Given the description of an element on the screen output the (x, y) to click on. 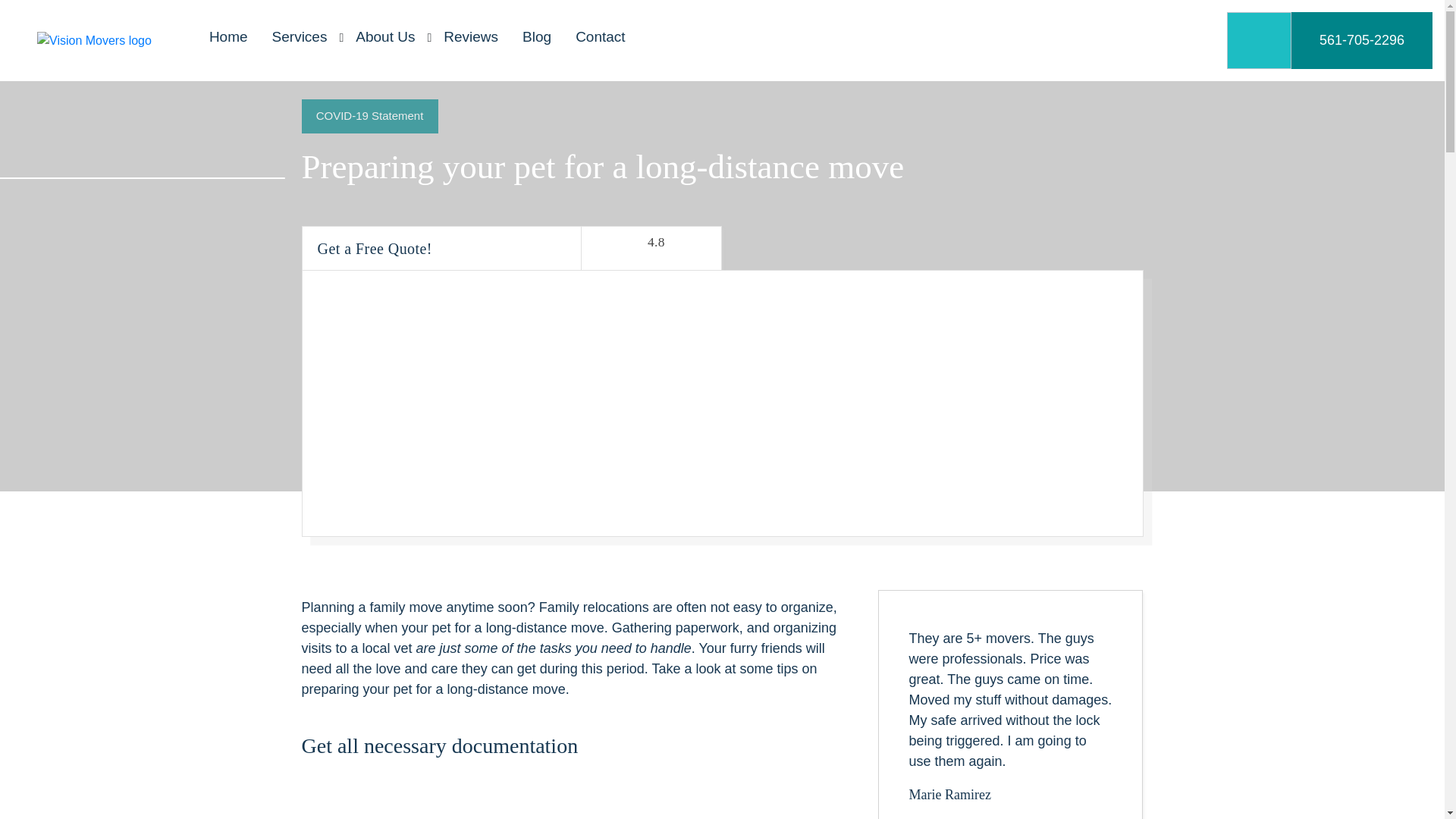
COVID-19 Statement (369, 116)
Reviews (470, 37)
561-705-2296 (1361, 40)
Blog (537, 37)
Services (299, 37)
Contact (600, 37)
GET QUOTE NOW (724, 497)
About Us (384, 37)
Home (228, 37)
